Given the description of an element on the screen output the (x, y) to click on. 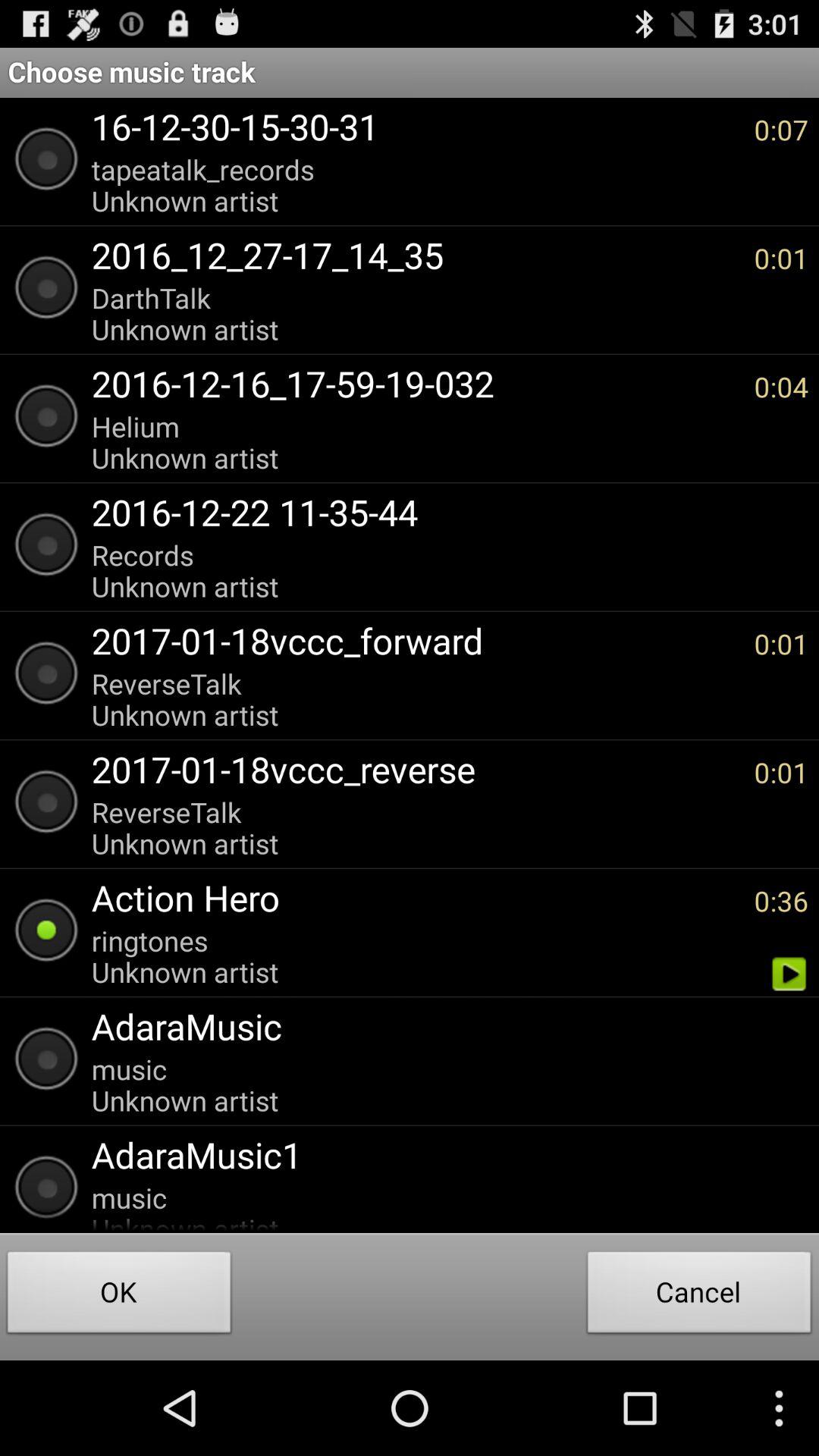
press the adaramusic item (441, 1026)
